Given the description of an element on the screen output the (x, y) to click on. 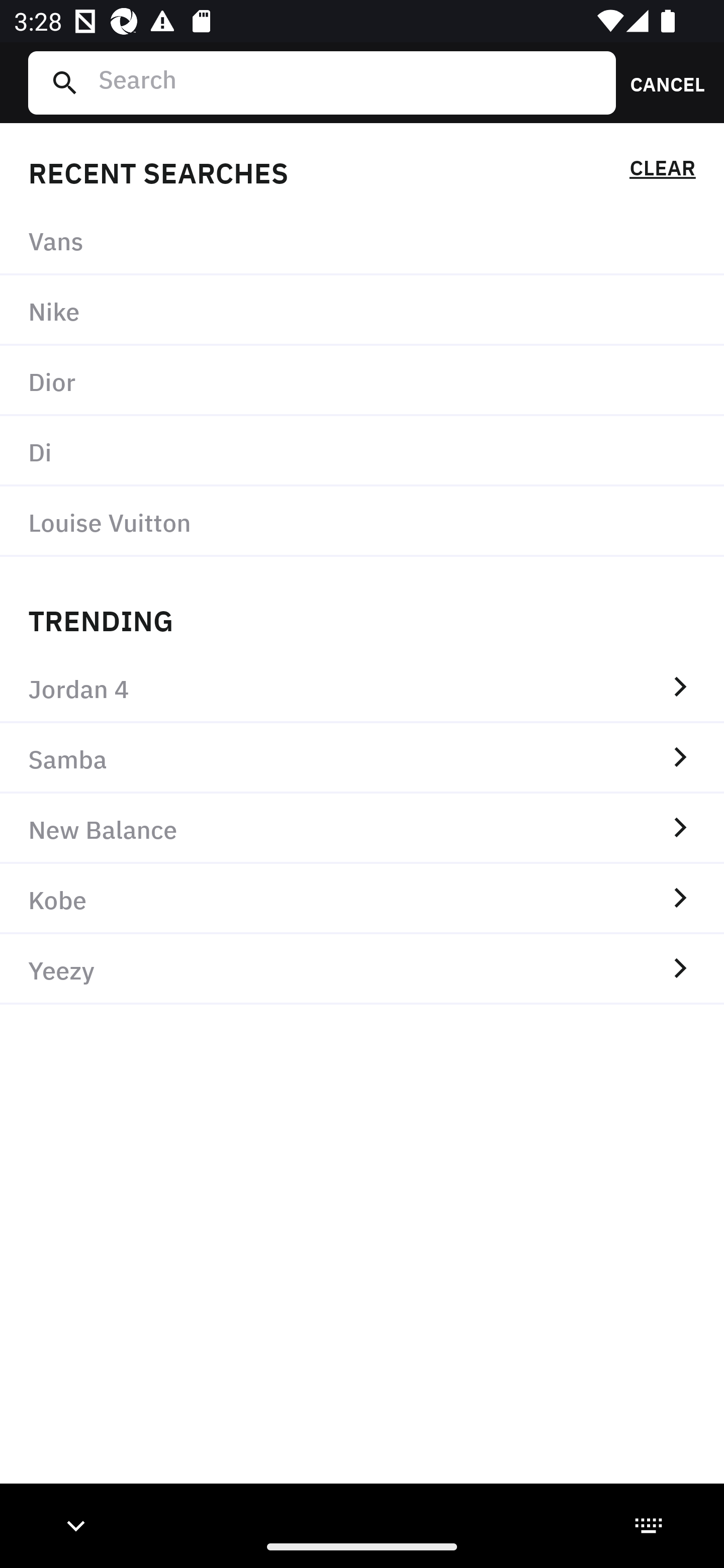
CANCEL (660, 82)
Search (349, 82)
CLEAR (662, 170)
Vans (362, 240)
Nike (362, 310)
Dior (362, 380)
Di (362, 450)
Louise Vuitton (362, 521)
Jordan 4  (362, 687)
Samba  (362, 757)
New Balance  (362, 828)
Kobe  (362, 898)
Yeezy  (362, 969)
